Given the description of an element on the screen output the (x, y) to click on. 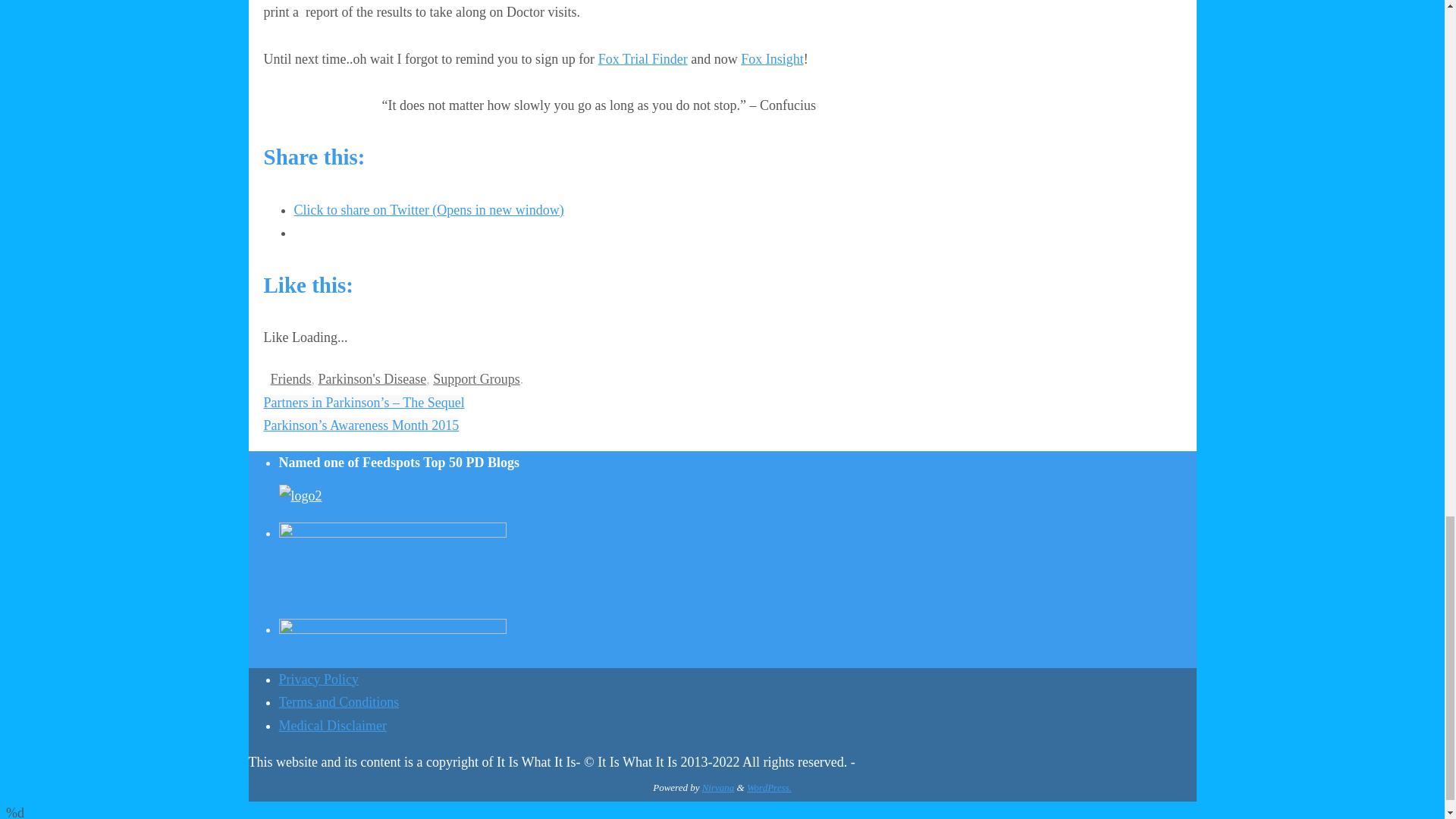
Parkinson's Disease (372, 378)
Privacy Policy (319, 679)
Click to share on Twitter (429, 209)
Friends (290, 378)
Terms and Conditions (338, 702)
Fox Trial Finder (642, 58)
Semantic Personal Publishing Platform (769, 787)
Parkinson Blogs (300, 495)
Medical Disclaimer (333, 725)
Nirvana Theme by Cryout Creations (718, 787)
Fox Insight (772, 58)
Support Groups (475, 378)
